Given the description of an element on the screen output the (x, y) to click on. 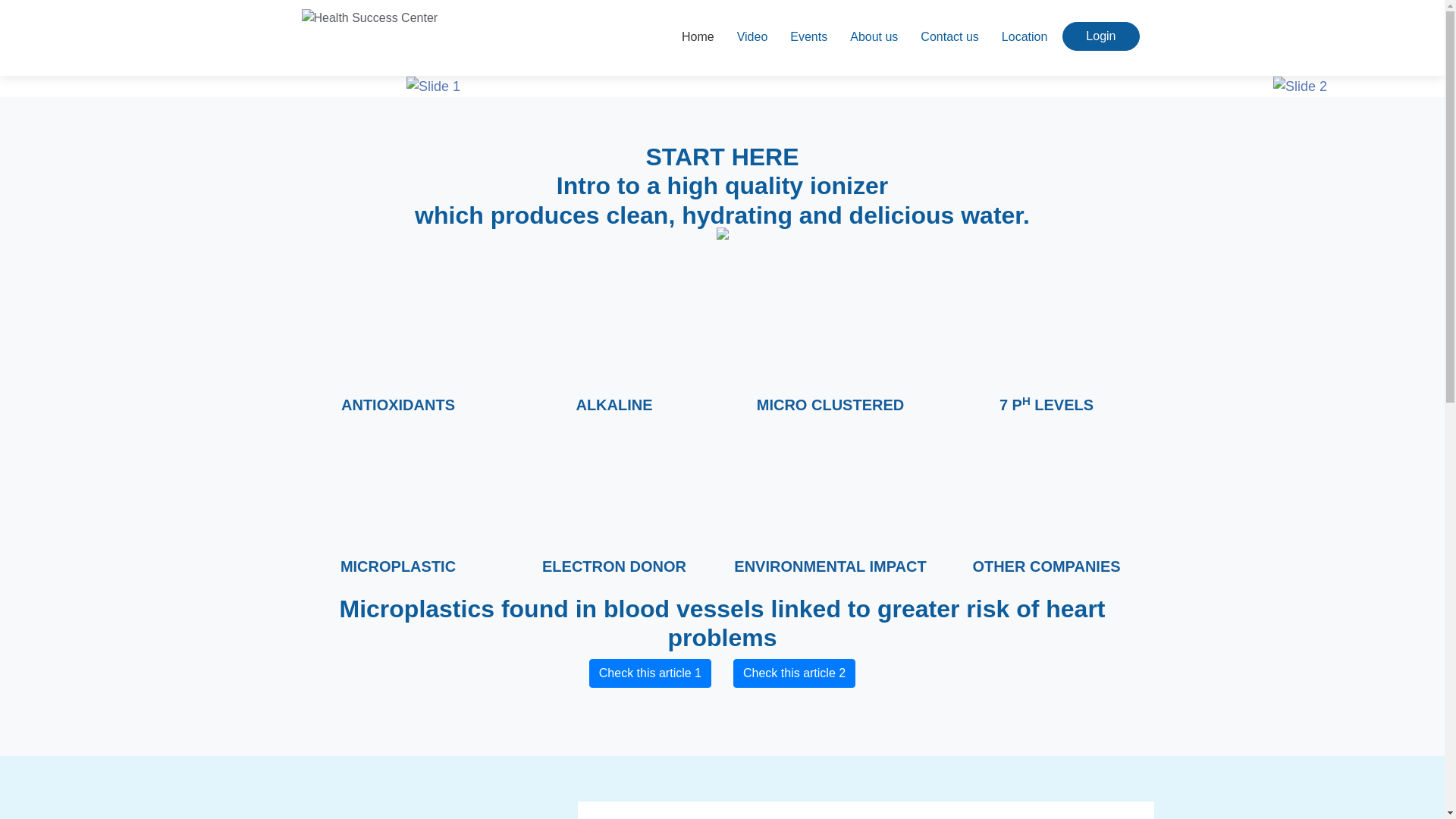
Check this article 1 (650, 673)
Contact us (949, 38)
Video (751, 38)
About us (873, 38)
Location (1024, 38)
Home (697, 38)
Slide 2 (1299, 86)
Login (1100, 36)
Check this article 2 (794, 673)
Slide 1 (433, 86)
